Given the description of an element on the screen output the (x, y) to click on. 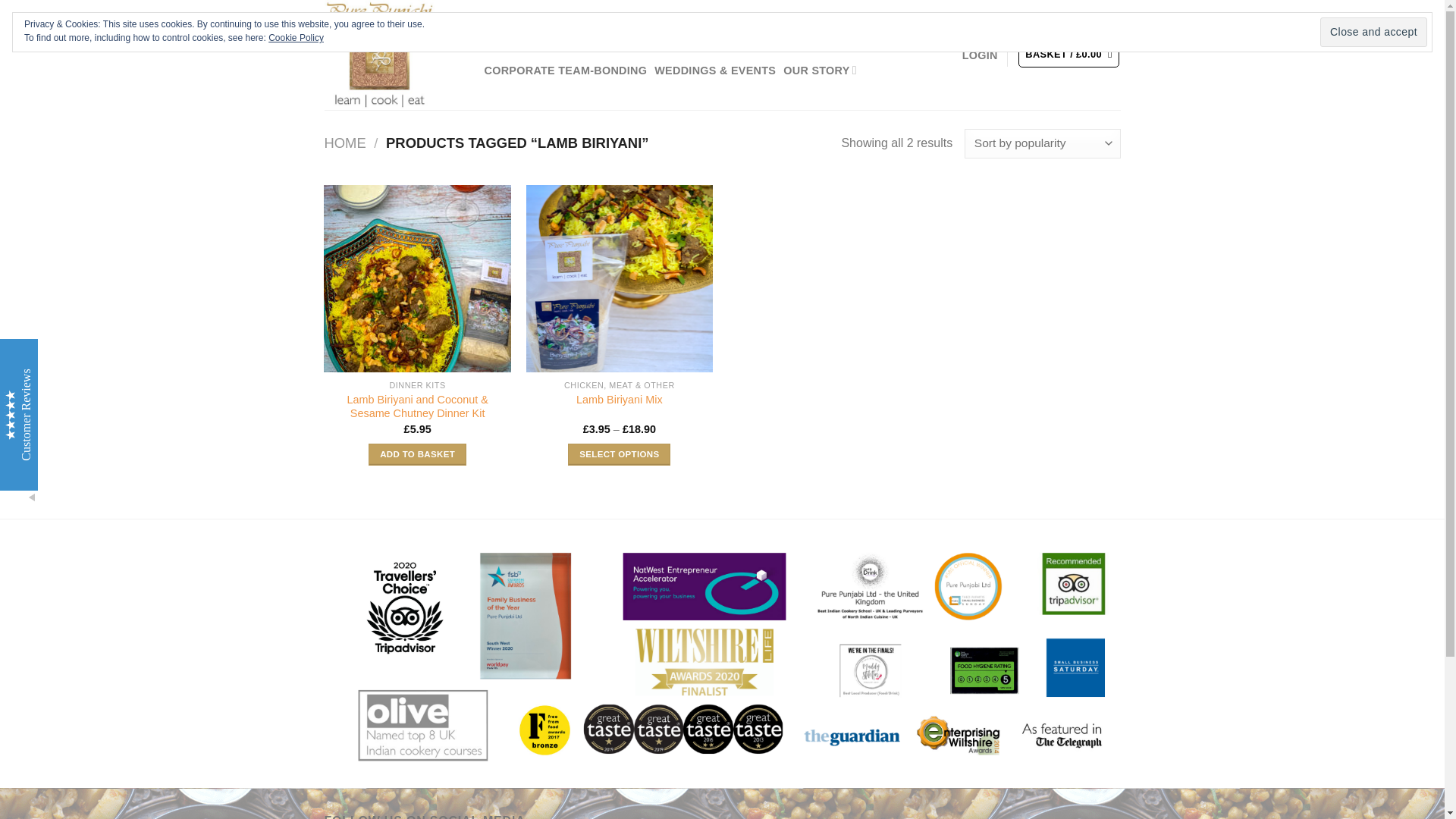
Basket (1068, 54)
CORPORATE TEAM-BONDING (564, 70)
HOME (345, 142)
LOGIN (979, 54)
Lamb Biriyani Mix (619, 400)
ADD TO BASKET (416, 454)
Close and accept (1373, 31)
COOKERY SCHOOL (557, 39)
GIFT CARDS (658, 40)
Login (979, 54)
